Given the description of an element on the screen output the (x, y) to click on. 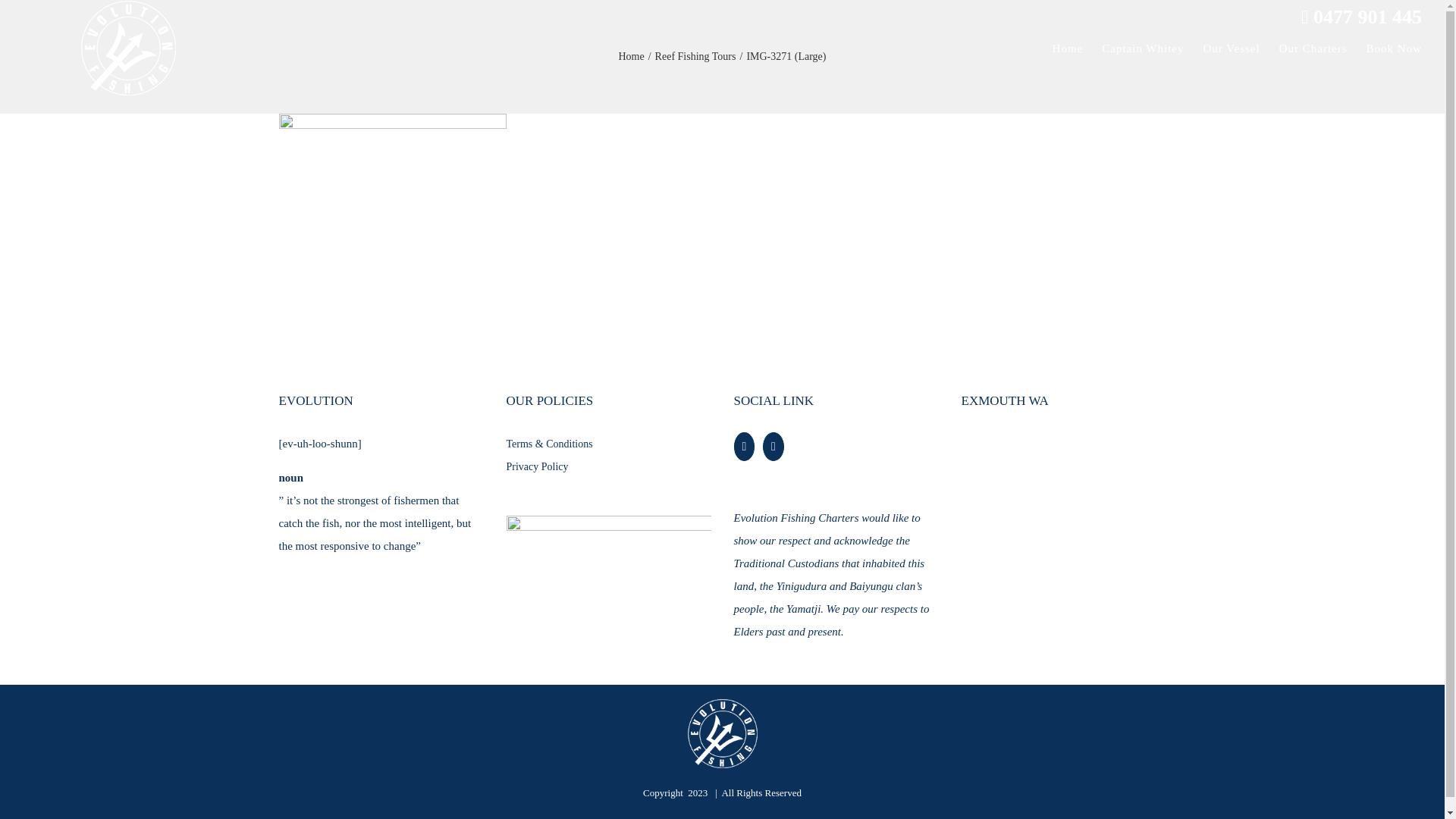
Book Now Element type: text (1393, 48)
Our Charters Element type: text (1313, 48)
0477 901 445 Element type: text (1361, 17)
Our Vessel Element type: text (1231, 48)
Terms & Conditions Element type: text (568, 444)
Reef Fishing Tours Element type: text (695, 56)
Home Element type: text (1067, 48)
Privacy Policy Element type: text (537, 466)
Instagram Element type: hover (773, 446)
Home Element type: text (631, 56)
Facebook Element type: hover (744, 446)
Captain Whitey Element type: text (1142, 48)
